Given the description of an element on the screen output the (x, y) to click on. 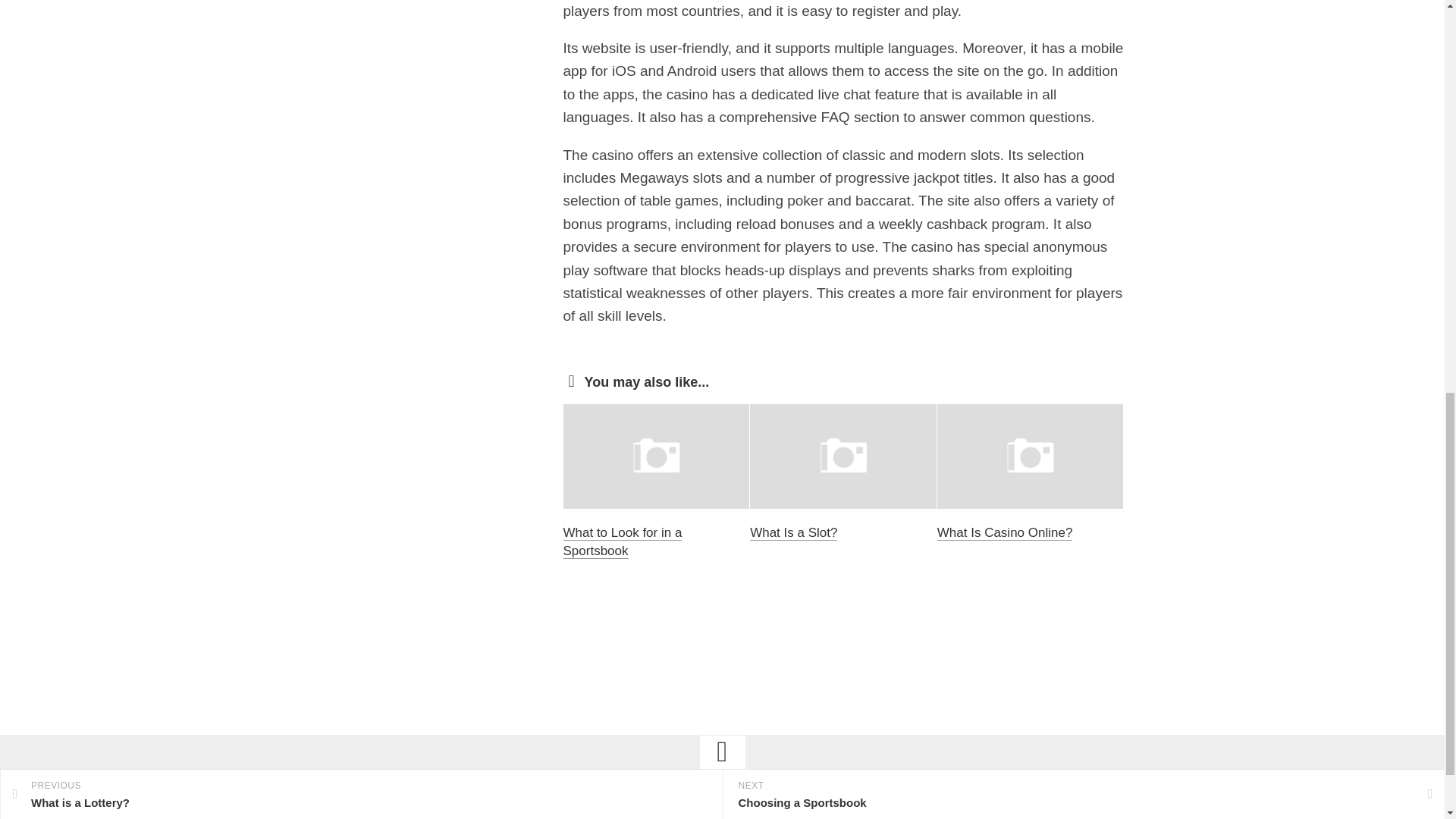
What Is Casino Online? (1005, 532)
What to Look for in a Sportsbook (621, 541)
What Is a Slot? (793, 532)
WordPress (714, 811)
Alx (803, 811)
